Given the description of an element on the screen output the (x, y) to click on. 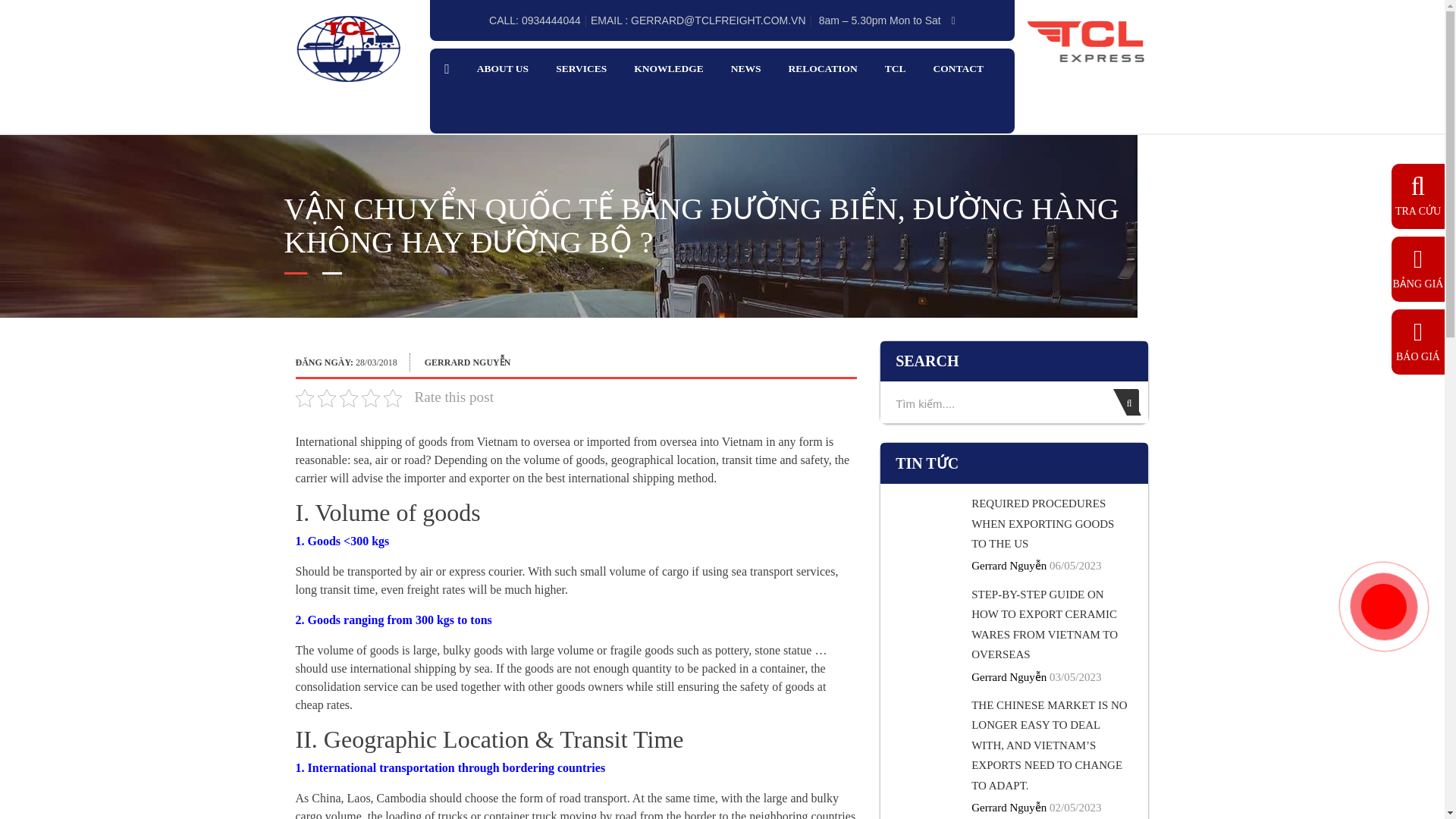
REQUIRED PROCEDURES WHEN EXPORTING GOODS TO THE US (1042, 523)
RELOCATION (822, 68)
SERVICES (581, 68)
NEWS (745, 68)
ABOUT US (502, 68)
KNOWLEDGE (668, 68)
CONTACT (958, 68)
